Given the description of an element on the screen output the (x, y) to click on. 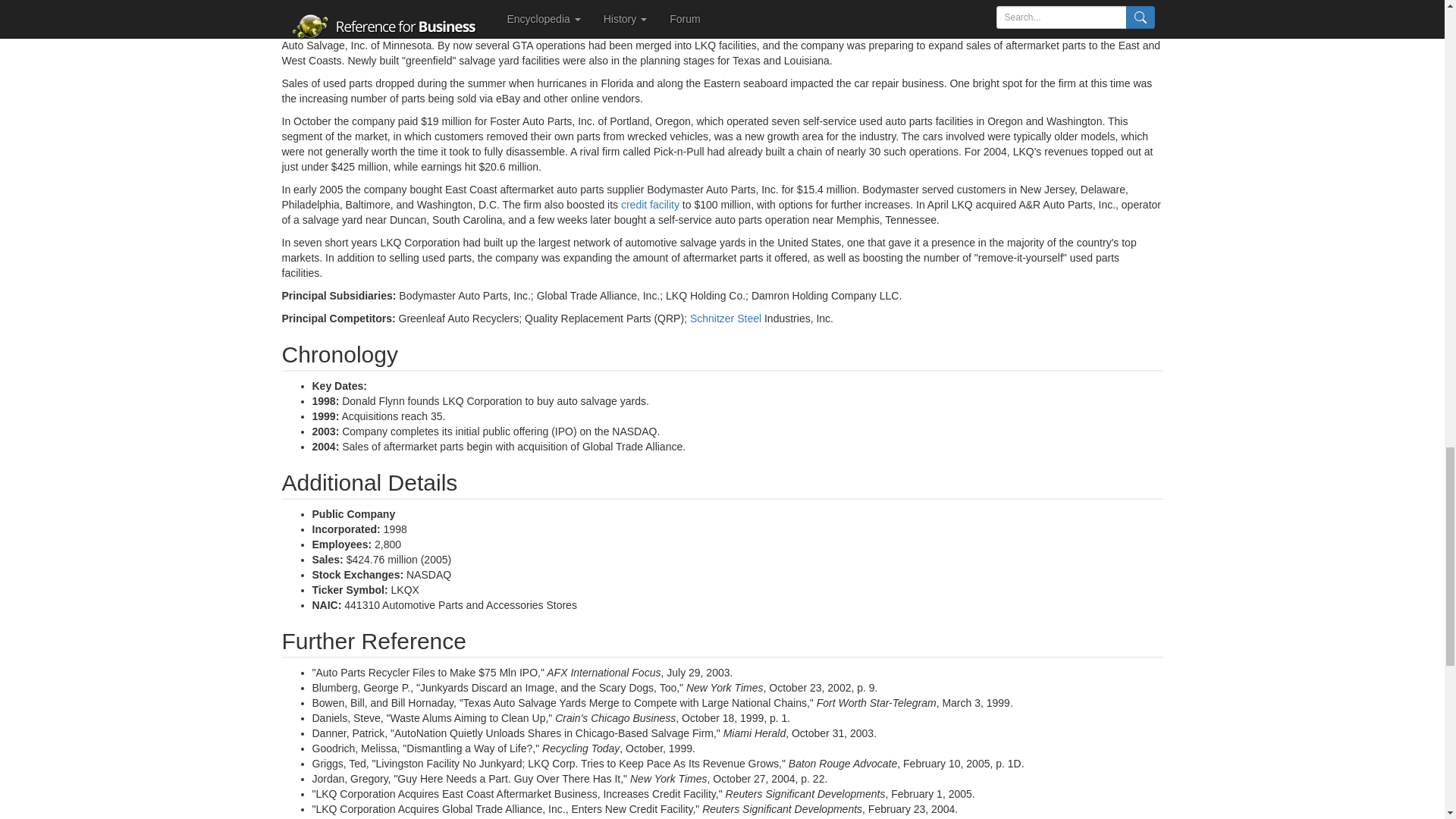
credit facility (650, 204)
View 'credit facility' definition from Wikipedia (650, 204)
View 'schnitzer steel' definition from Wikipedia (725, 318)
Schnitzer Steel (725, 318)
